Given the description of an element on the screen output the (x, y) to click on. 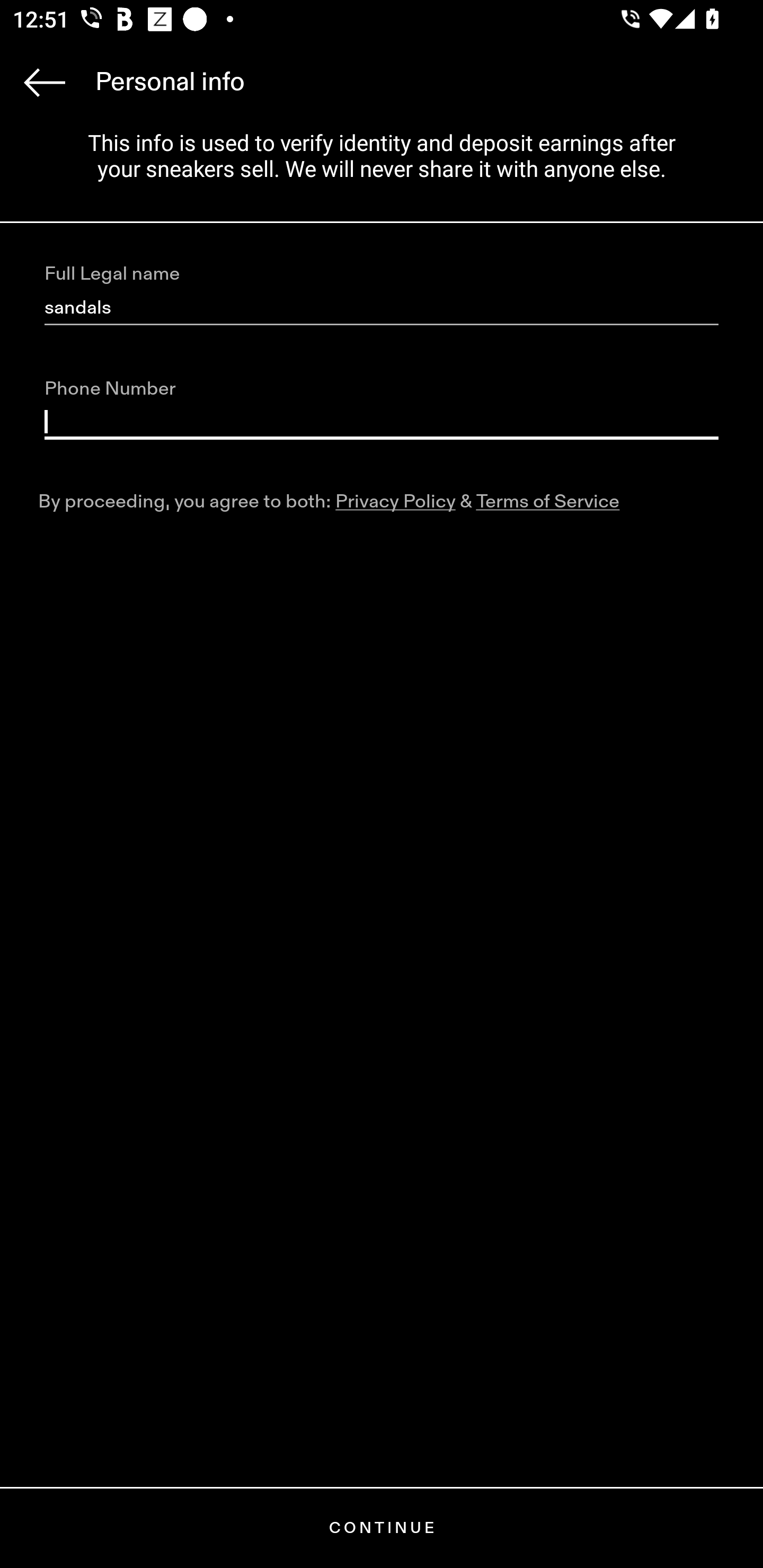
Navigate up (44, 82)
sandals (381, 308)
Phone Number (381, 422)
CONTINUE (381, 1528)
